Given the description of an element on the screen output the (x, y) to click on. 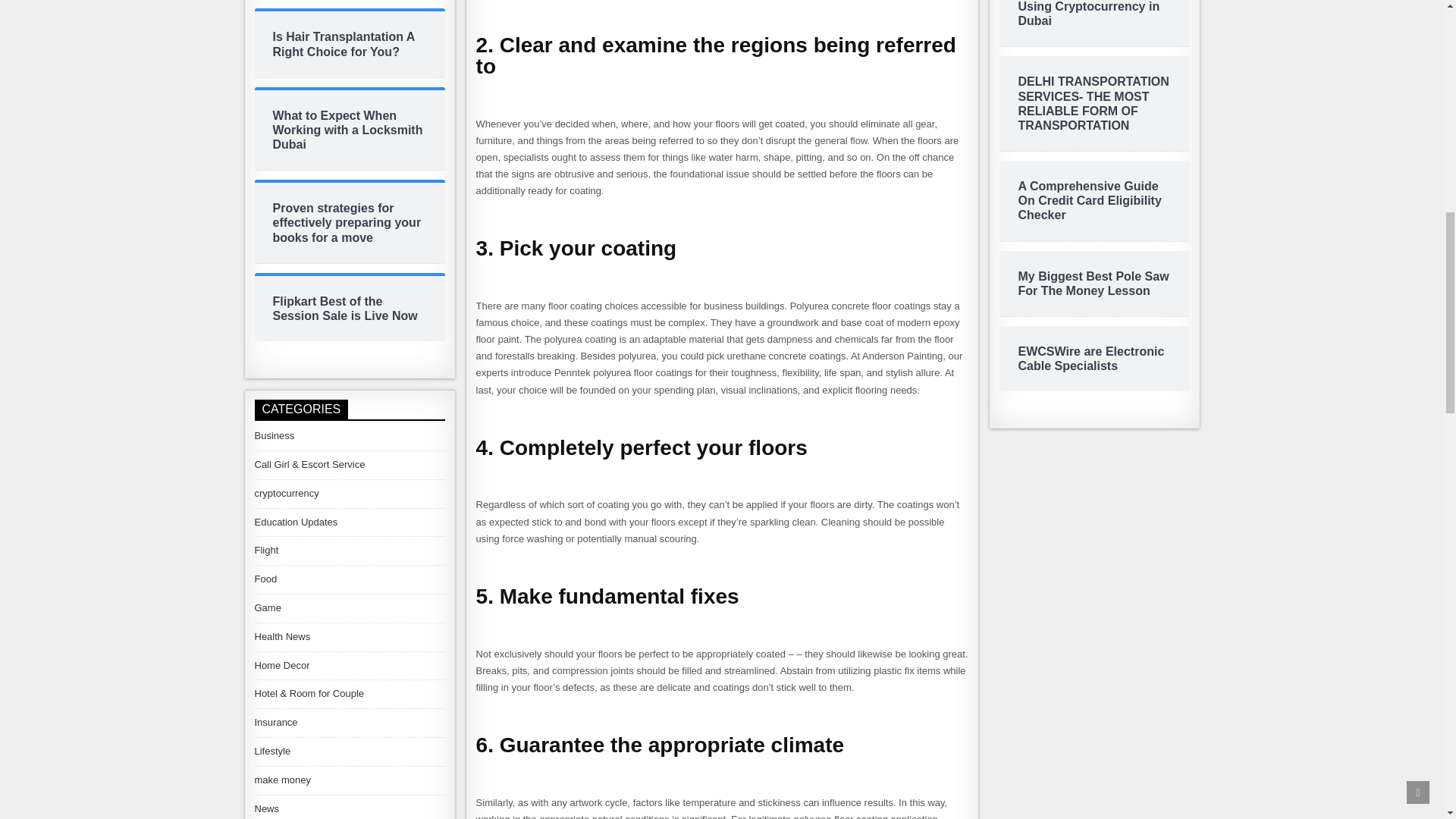
Food (266, 578)
Is Hair Transplantation A Right Choice for You? (349, 43)
cryptocurrency (286, 492)
Home Decor (282, 665)
Health News (282, 636)
Business (274, 435)
What to Expect When Working with a Locksmith Dubai (349, 130)
Flipkart Best of the Session Sale is Live Now (349, 308)
Game (267, 607)
Education Updates (295, 521)
